Given the description of an element on the screen output the (x, y) to click on. 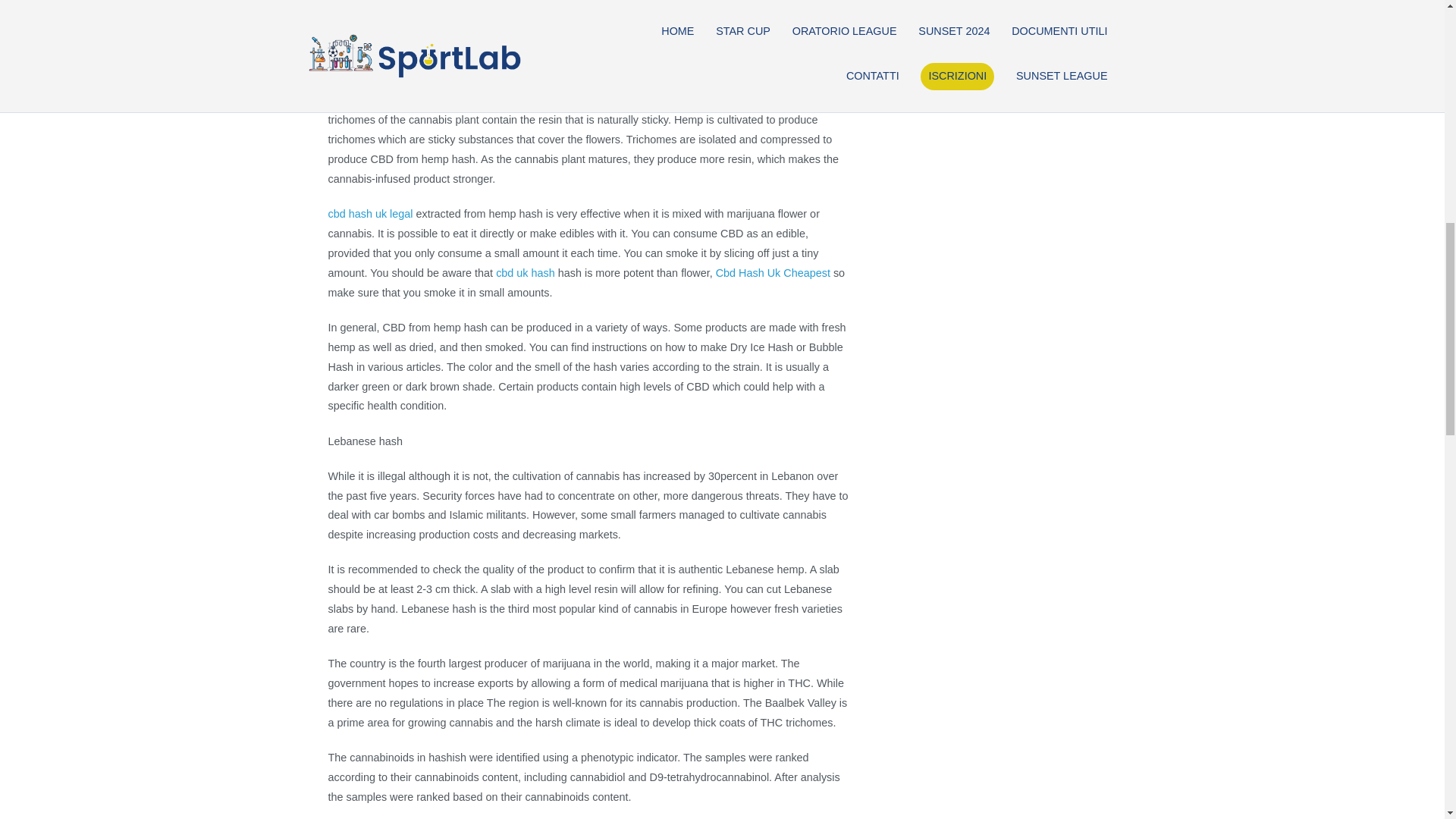
cbd hash uk legal (369, 214)
cbd uk hash (525, 272)
Cbd Hash Uk Cheapest (772, 272)
